Given the description of an element on the screen output the (x, y) to click on. 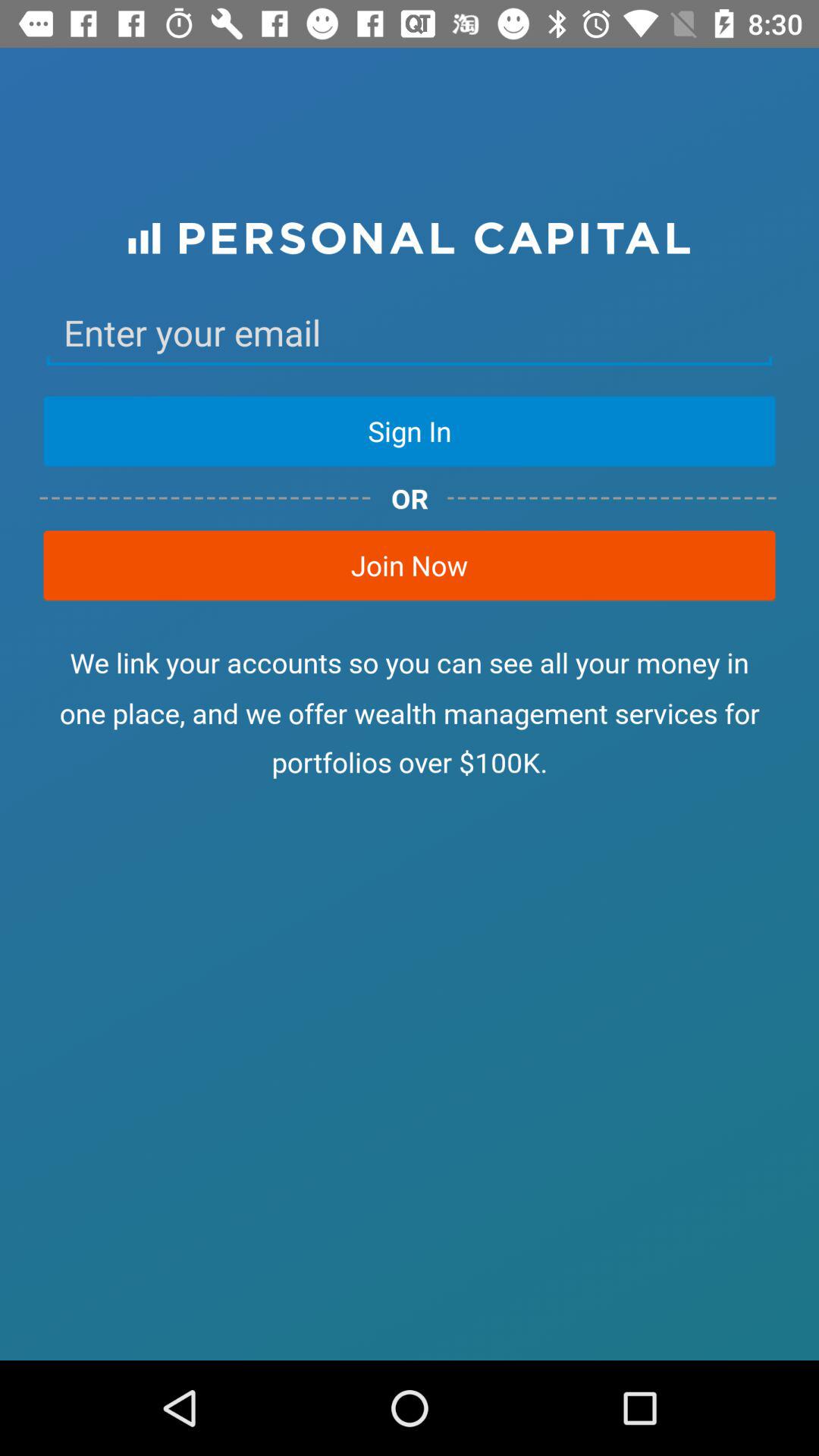
toggle email option (409, 333)
